Given the description of an element on the screen output the (x, y) to click on. 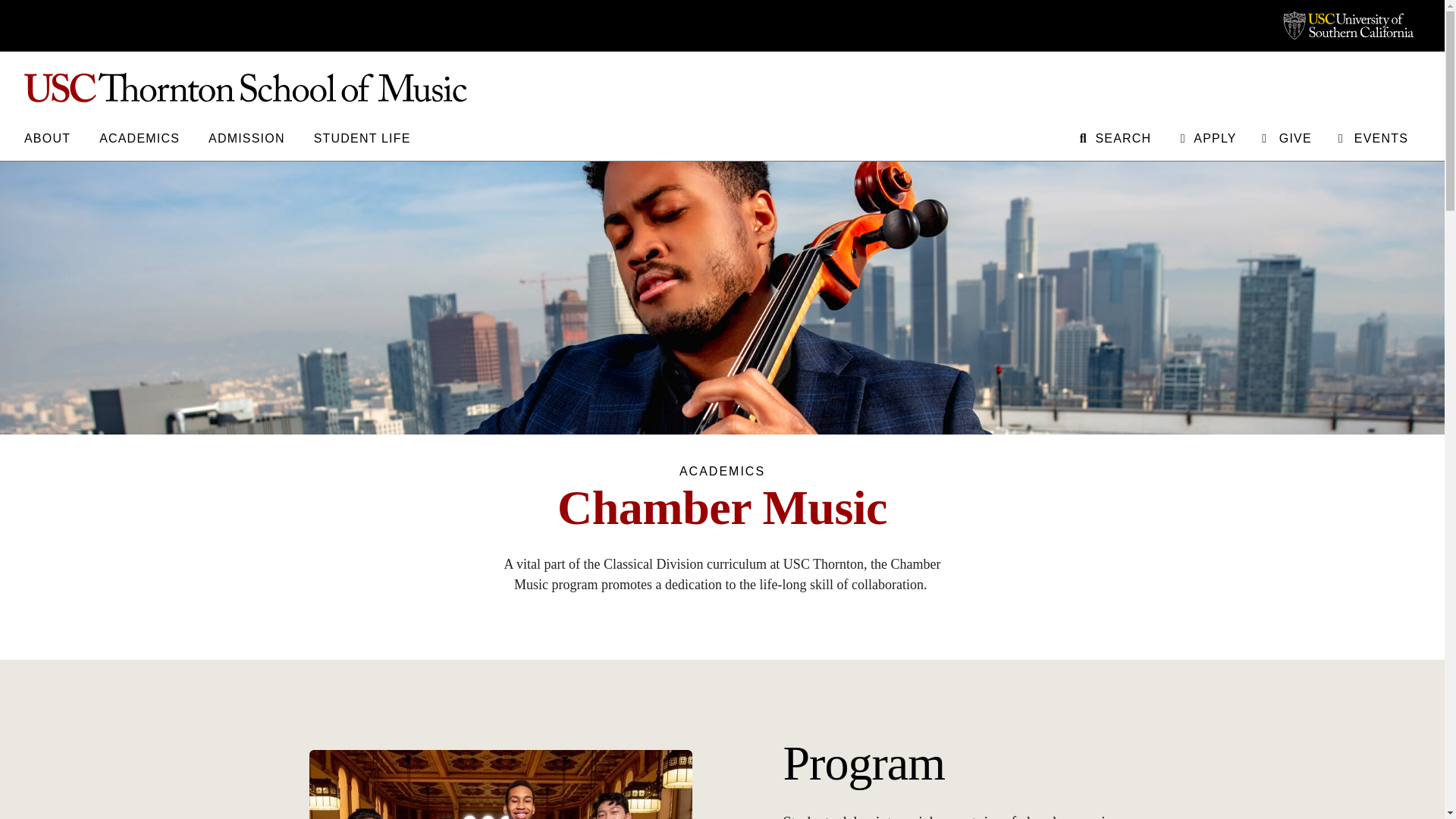
ADMISSION (246, 135)
EVENTS (1371, 135)
ACADEMICS (139, 135)
University of Southern California (1348, 25)
ABOUT (46, 135)
SEARCH (1114, 135)
USC Thornton School of Music (722, 87)
GIVE (1285, 135)
STUDENT LIFE (362, 135)
APPLY (1205, 135)
